Given the description of an element on the screen output the (x, y) to click on. 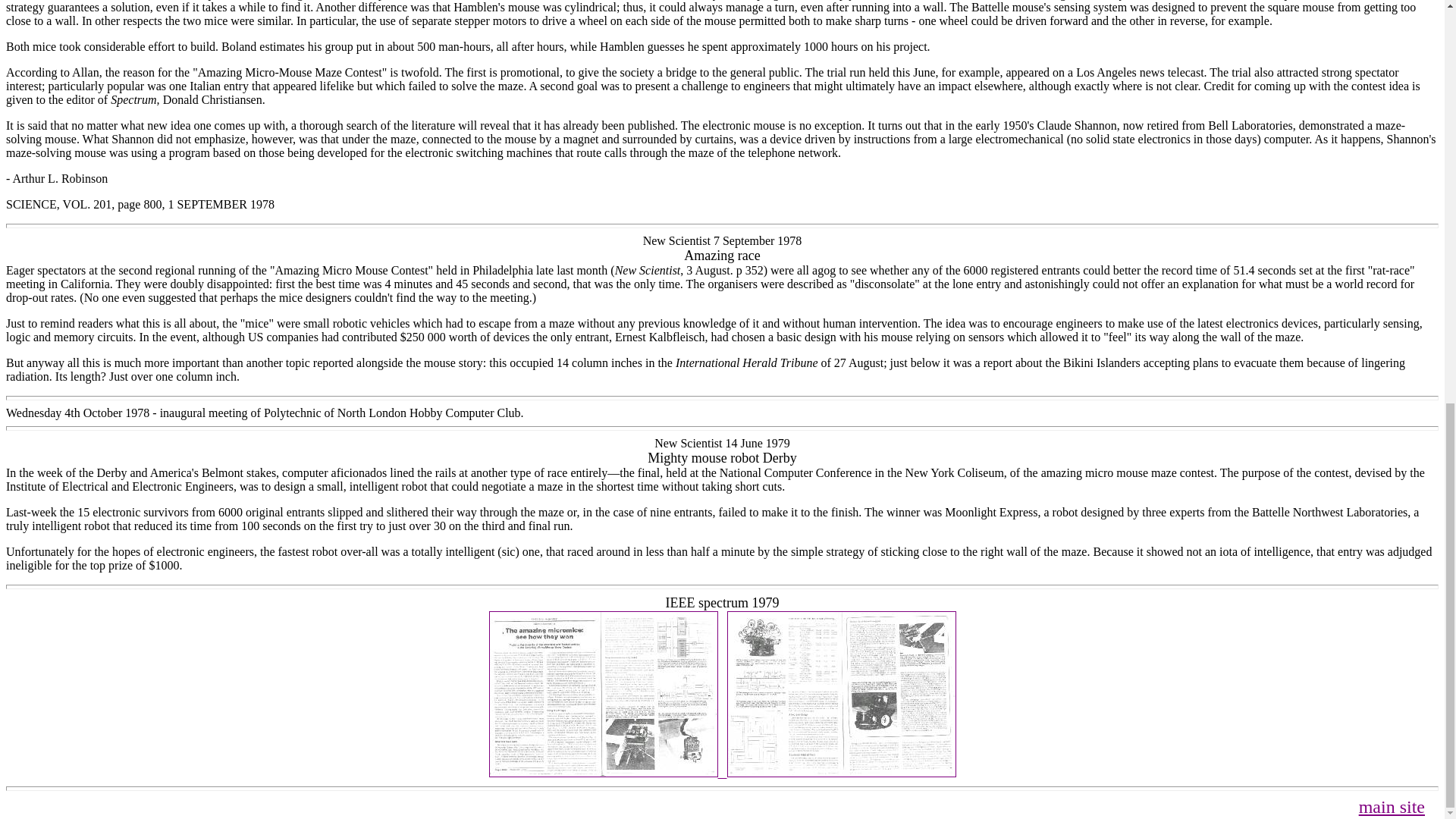
IEEE spectrum 1979 (721, 603)
main site (1391, 806)
